Given the description of an element on the screen output the (x, y) to click on. 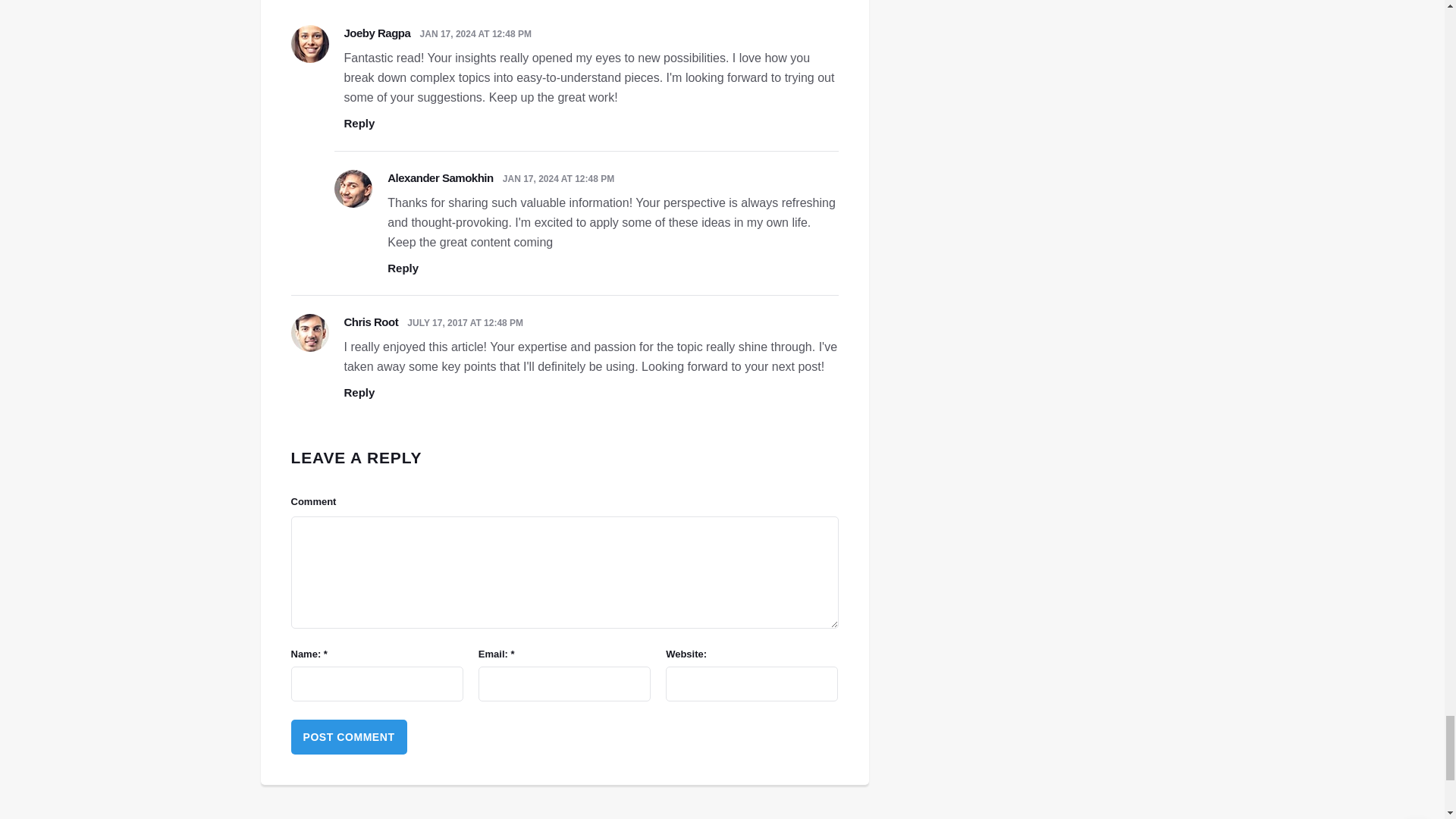
Post Comment (349, 736)
